Given the description of an element on the screen output the (x, y) to click on. 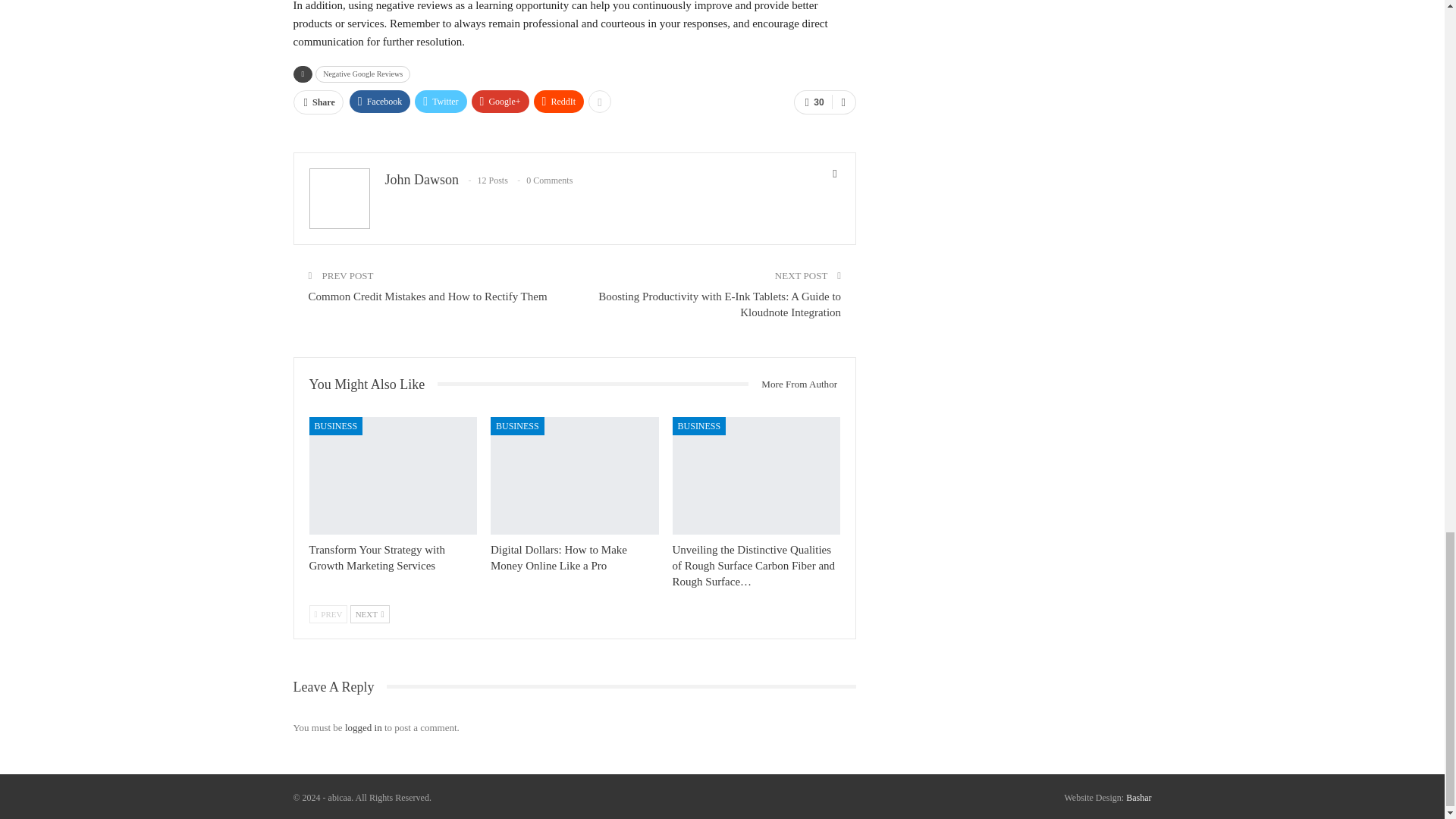
Transform Your Strategy with Growth Marketing Services (376, 557)
Digital Dollars: How to Make Money Online Like a Pro (574, 475)
Transform Your Strategy with Growth Marketing Services (392, 475)
Digital Dollars: How to Make Money Online Like a Pro (558, 557)
